Given the description of an element on the screen output the (x, y) to click on. 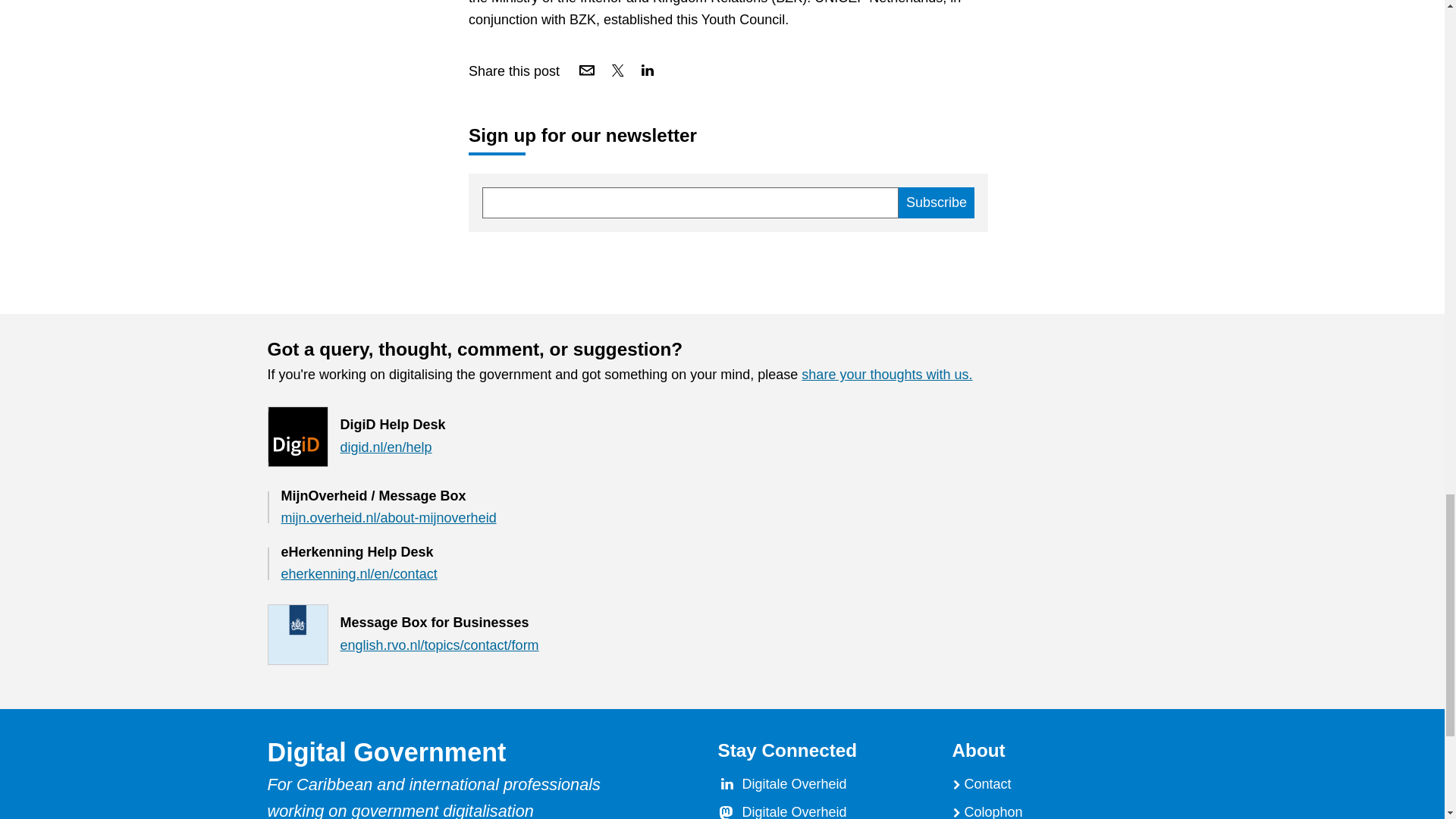
Subscribe (936, 202)
Subscribe (936, 202)
 Share on LinkedIn (646, 70)
share your thoughts with us. (887, 374)
Digitale Overheid (793, 783)
 Share via email (586, 70)
Digitale Overheid (793, 811)
